Given the description of an element on the screen output the (x, y) to click on. 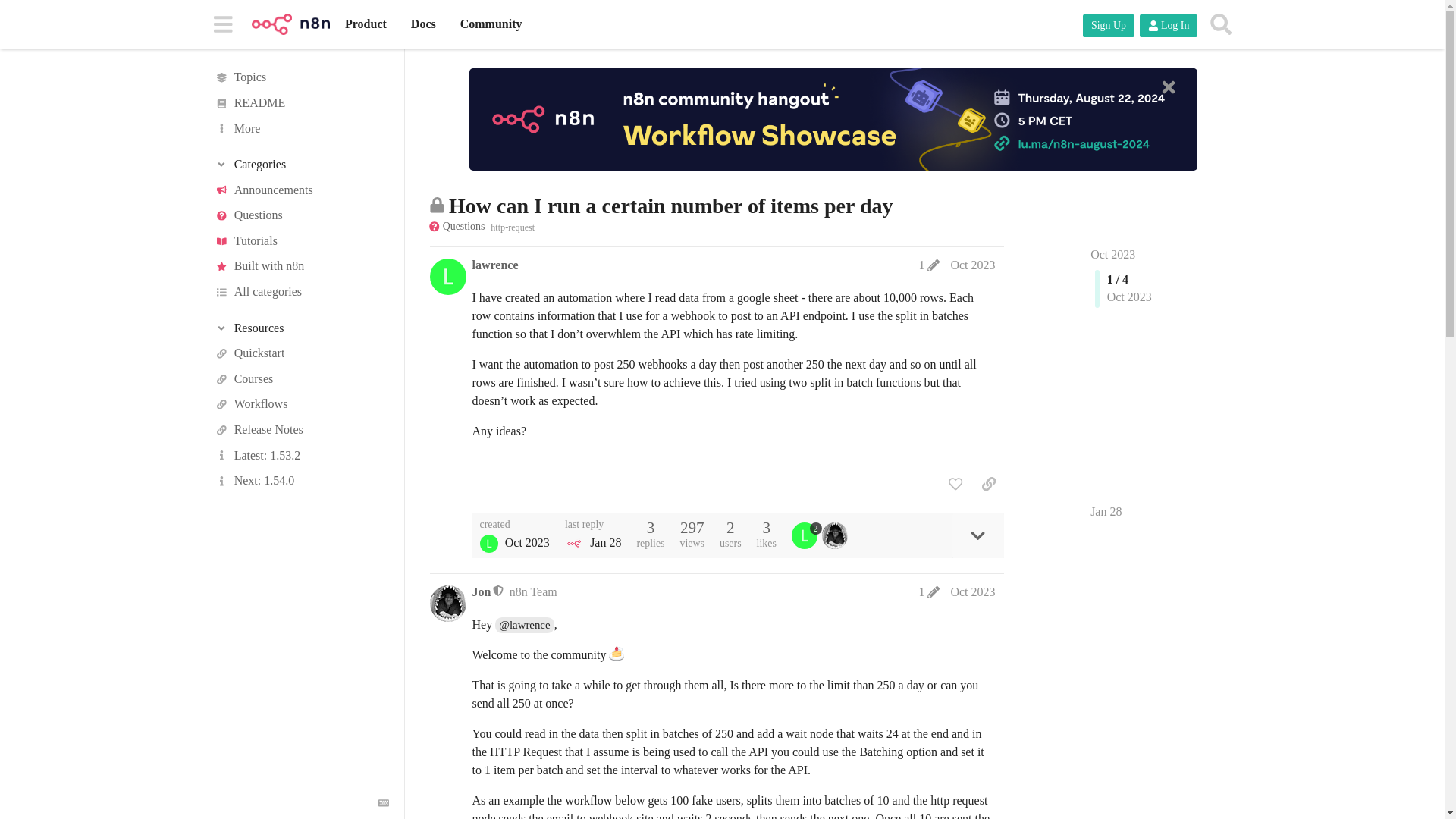
Categories (301, 164)
Quickstart (301, 353)
Next: 1.54.0 (301, 481)
Product (366, 24)
http-request (512, 226)
Topics (301, 77)
Jan 28 (1105, 511)
Sidebar (222, 23)
Release Notes (301, 429)
All topics (301, 77)
